Given the description of an element on the screen output the (x, y) to click on. 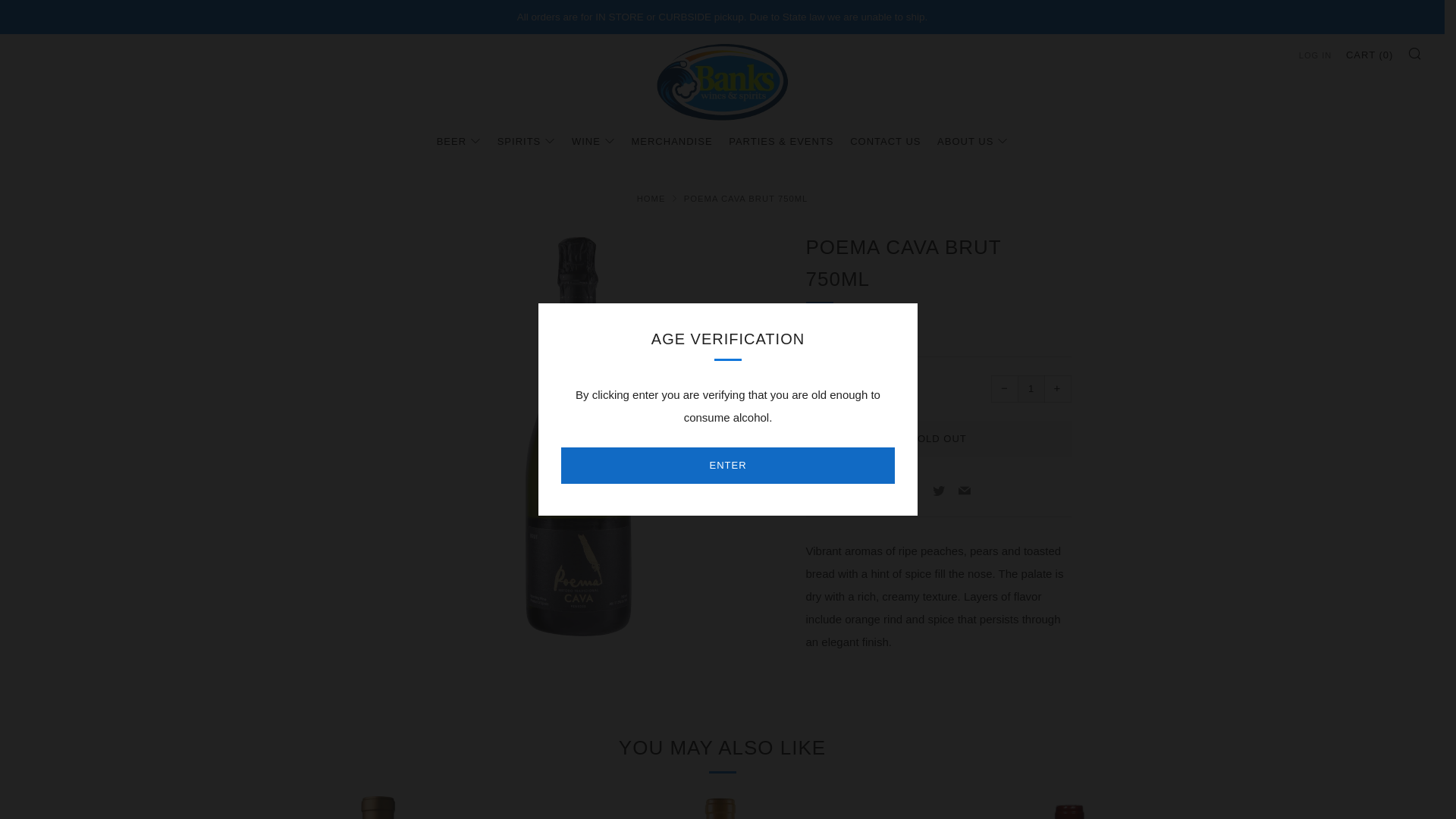
JOSH CELLARS CABERNET SAUVIGNON 750ML (1068, 807)
CHATEAU STE MICHELLE CHARDONNAY 750ML (721, 807)
Home (651, 198)
1 (1031, 388)
ENTER (727, 465)
KENDALL JACKSON VINTNERS RSV CHARDONNAY 750ML (376, 807)
